Given the description of an element on the screen output the (x, y) to click on. 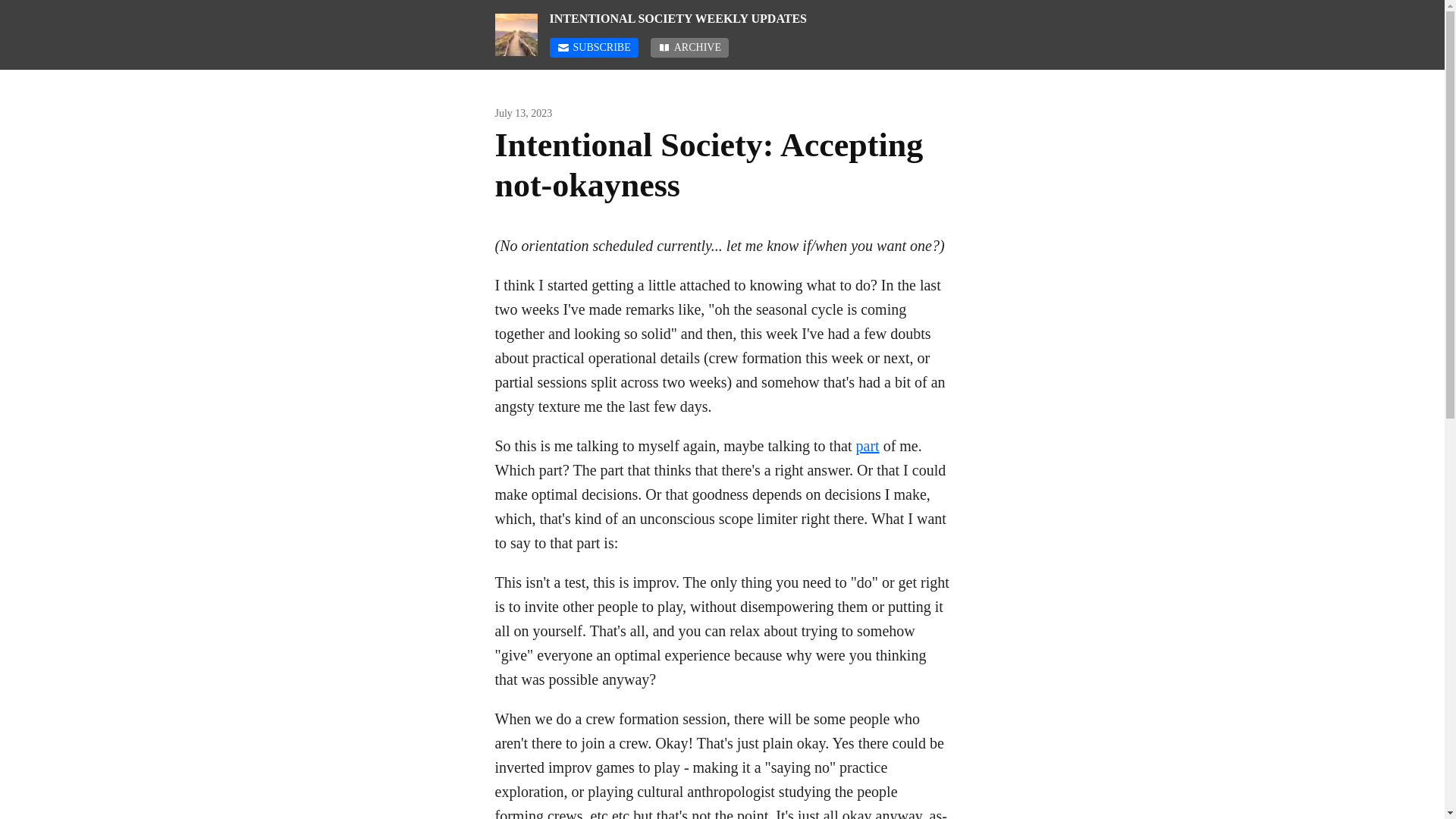
SUBSCRIBE (592, 47)
INTENTIONAL SOCIETY WEEKLY UPDATES (748, 18)
part (867, 445)
ARCHIVE (689, 47)
